Given the description of an element on the screen output the (x, y) to click on. 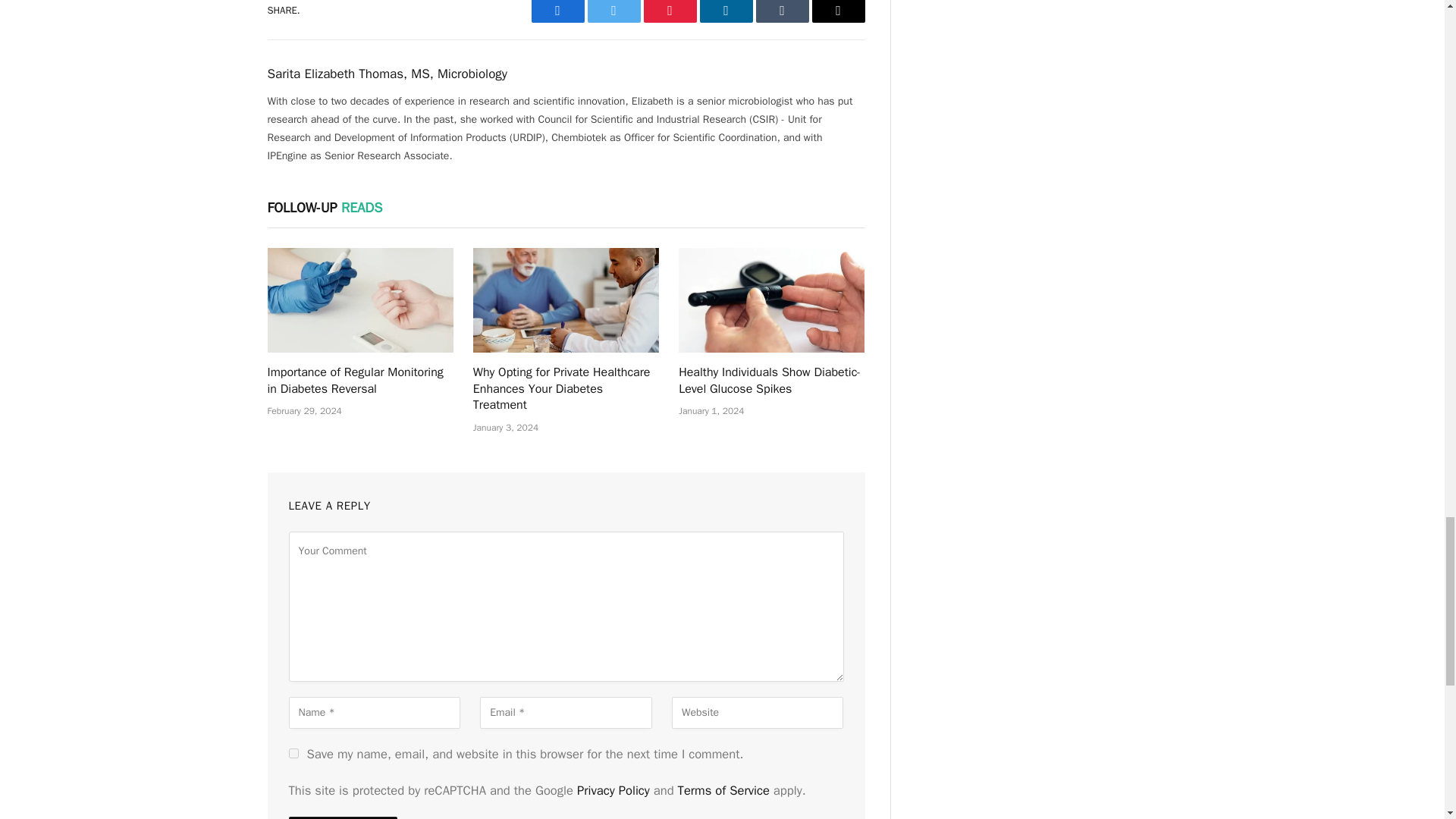
yes (293, 753)
Post Comment (342, 817)
